Given the description of an element on the screen output the (x, y) to click on. 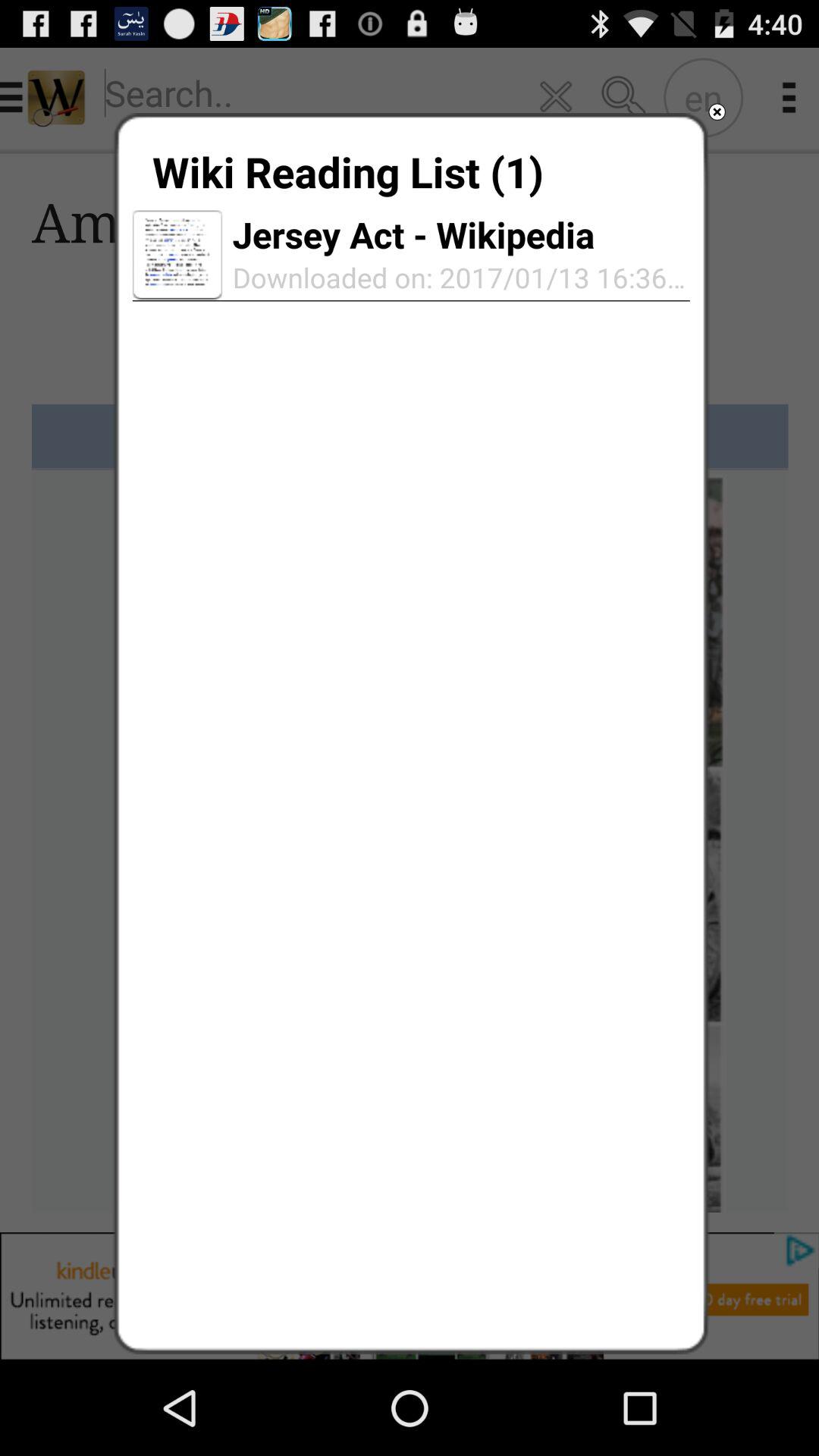
click the item at the top left corner (177, 255)
